Given the description of an element on the screen output the (x, y) to click on. 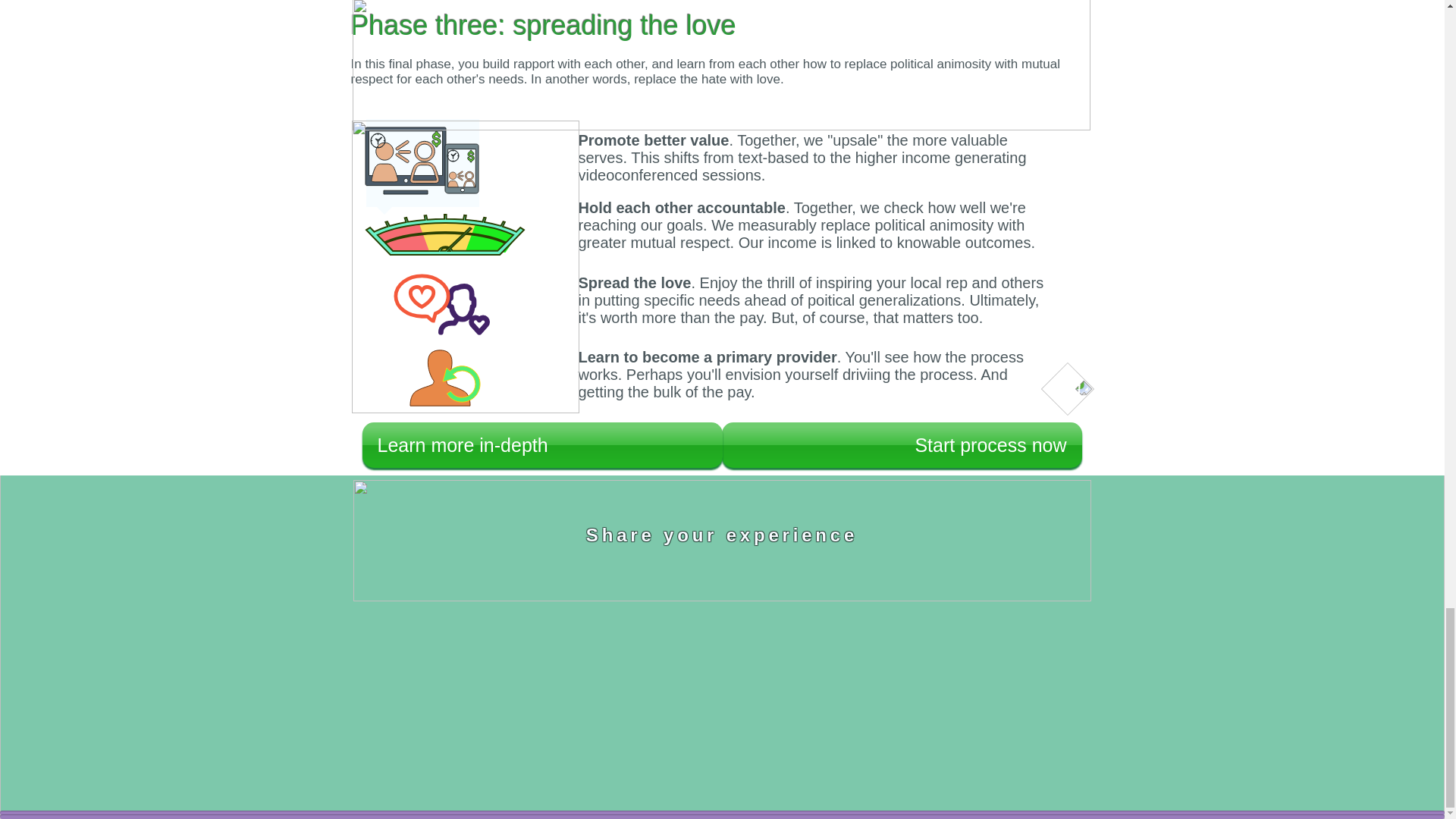
Start process now (901, 444)
Learn more in-depth (542, 444)
Click here to return to top of page (721, 540)
